Given the description of an element on the screen output the (x, y) to click on. 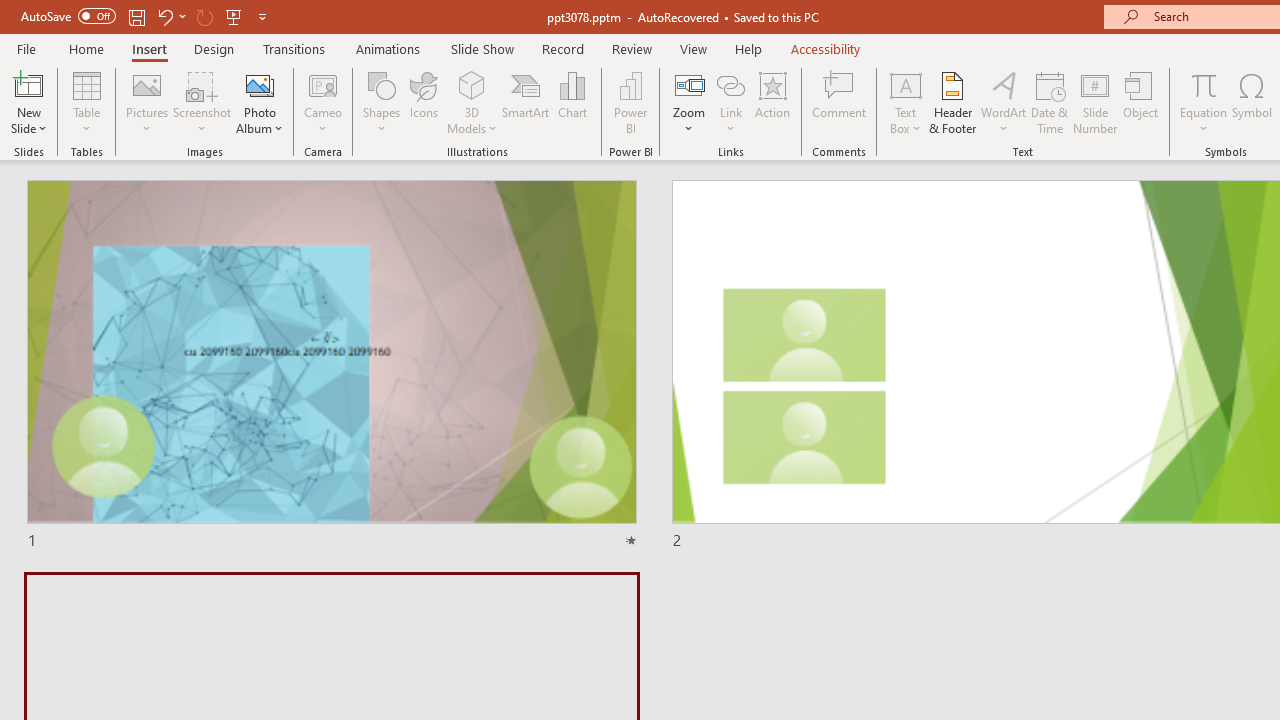
Photo Album... (259, 102)
Object... (1141, 102)
Link (731, 84)
3D Models (472, 102)
SmartArt... (525, 102)
